Given the description of an element on the screen output the (x, y) to click on. 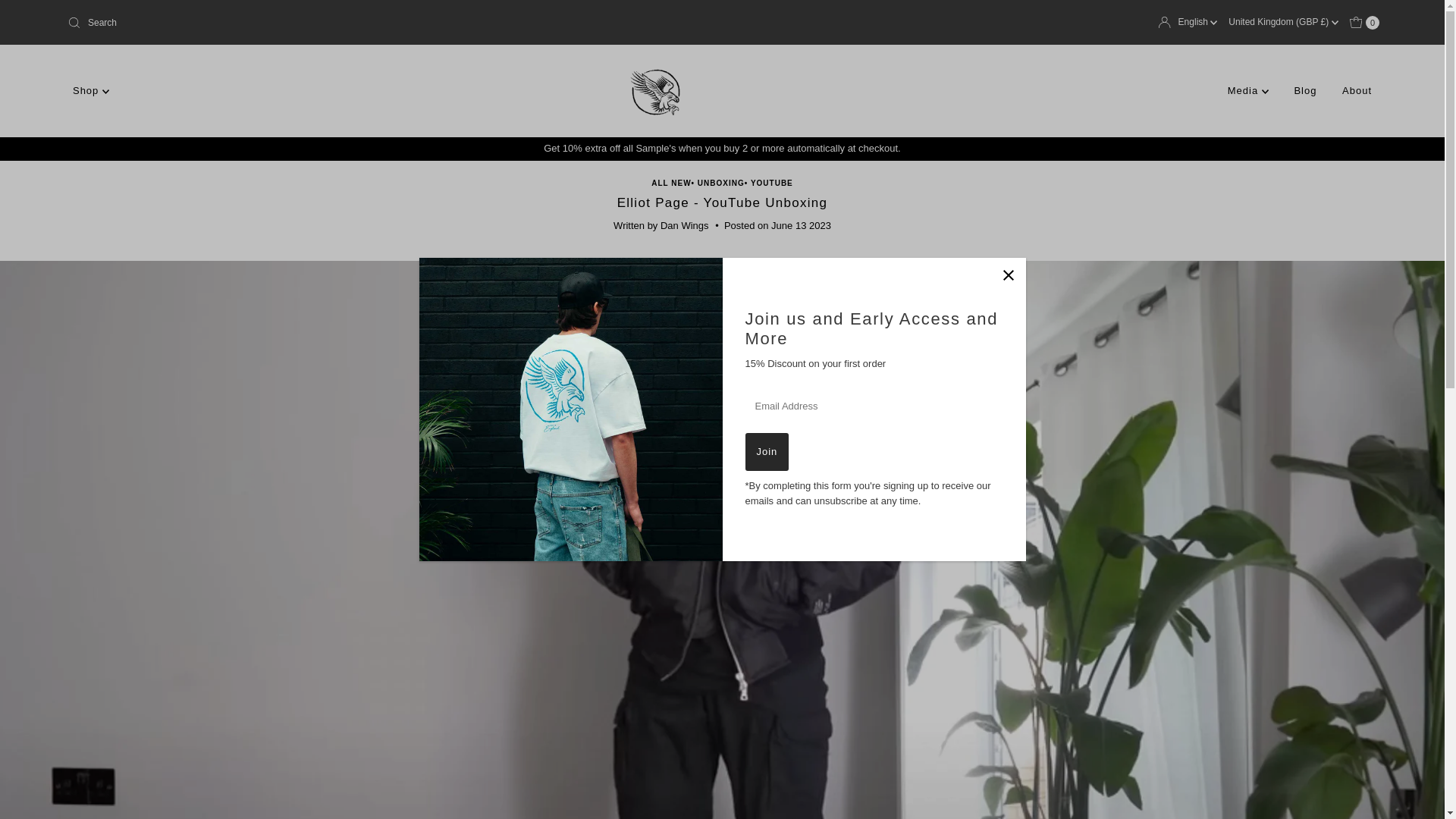
Join (766, 451)
